Given the description of an element on the screen output the (x, y) to click on. 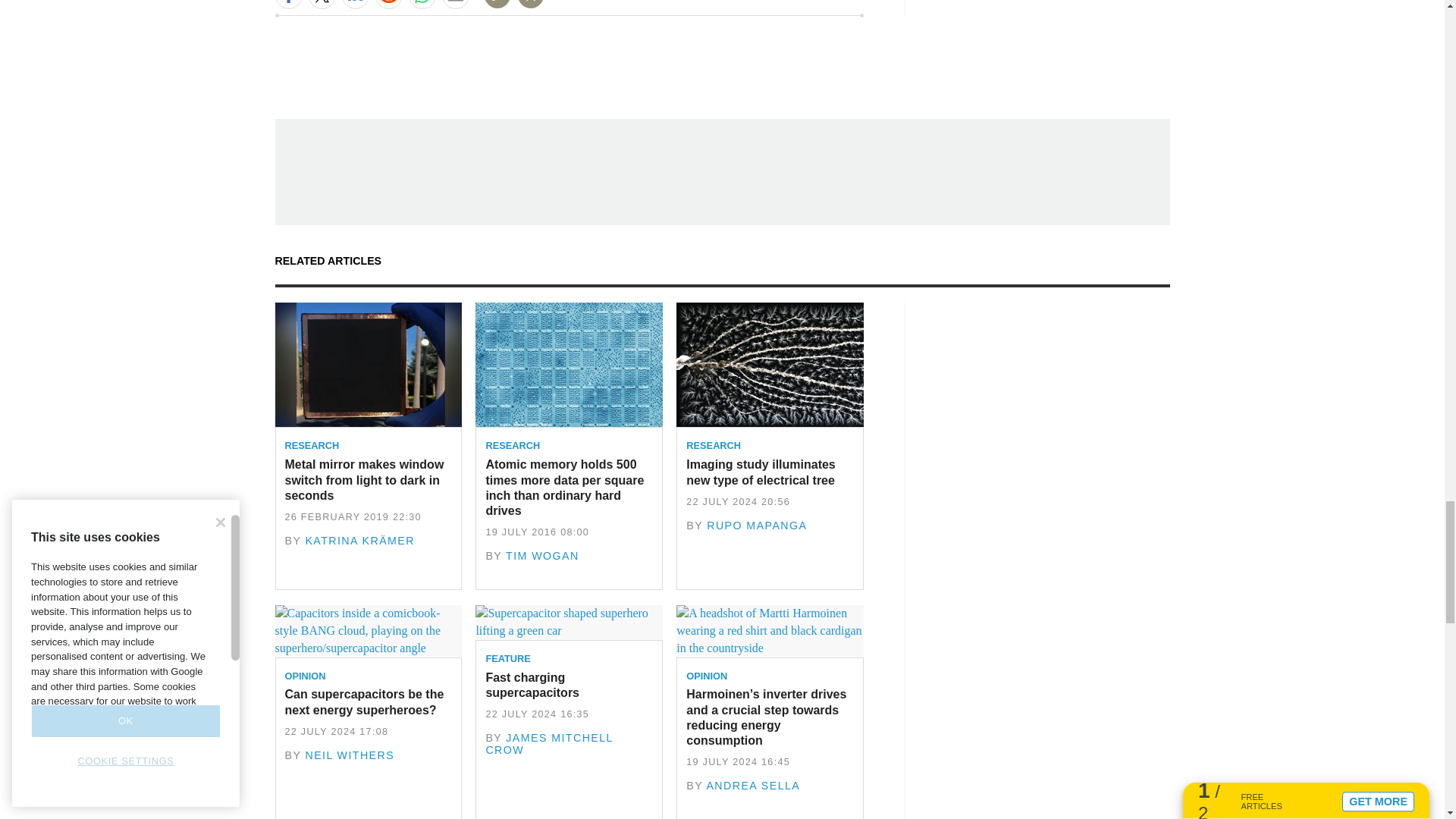
Share this by email (454, 4)
Share this on Reddit (387, 4)
NO COMMENTS (492, 6)
Share this on LinkedIn (354, 4)
Share this on WhatsApp (421, 4)
Share this on Facebook (288, 4)
